Given the description of an element on the screen output the (x, y) to click on. 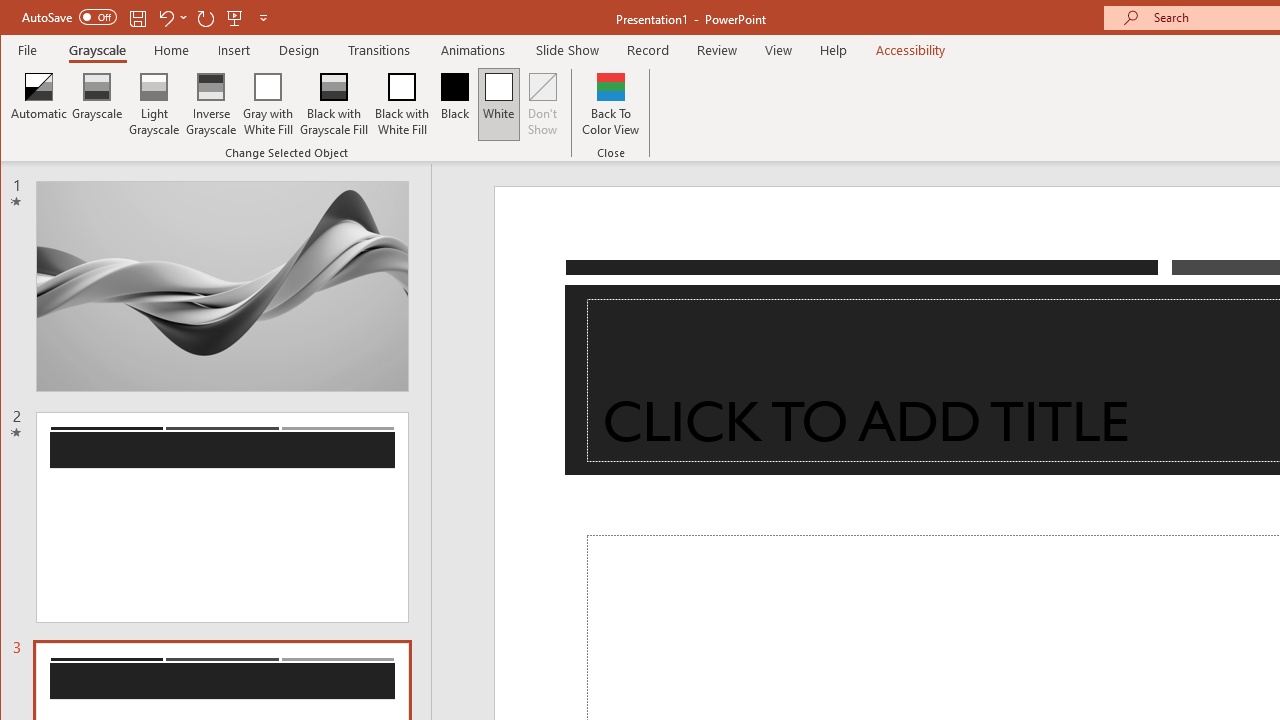
White (498, 104)
